Given the description of an element on the screen output the (x, y) to click on. 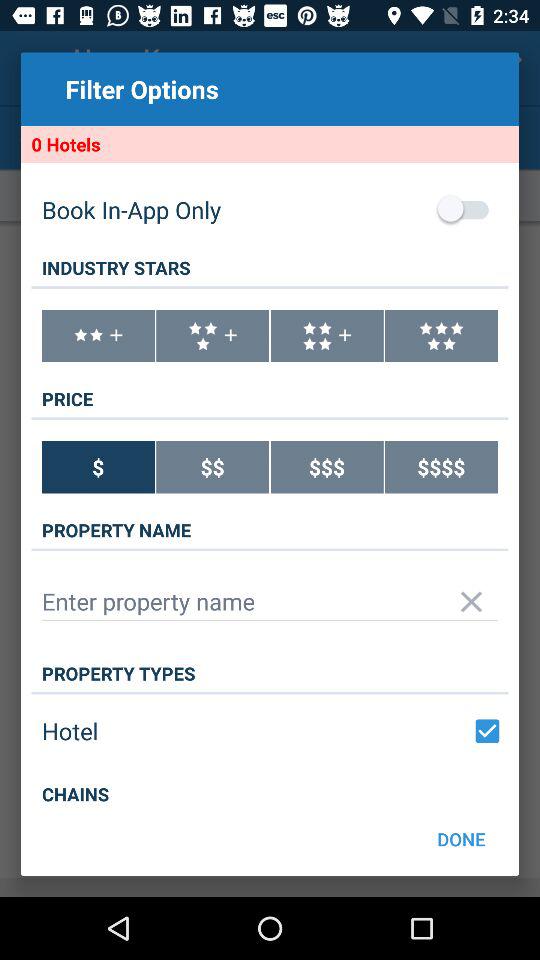
rate 4 starts (326, 335)
